Given the description of an element on the screen output the (x, y) to click on. 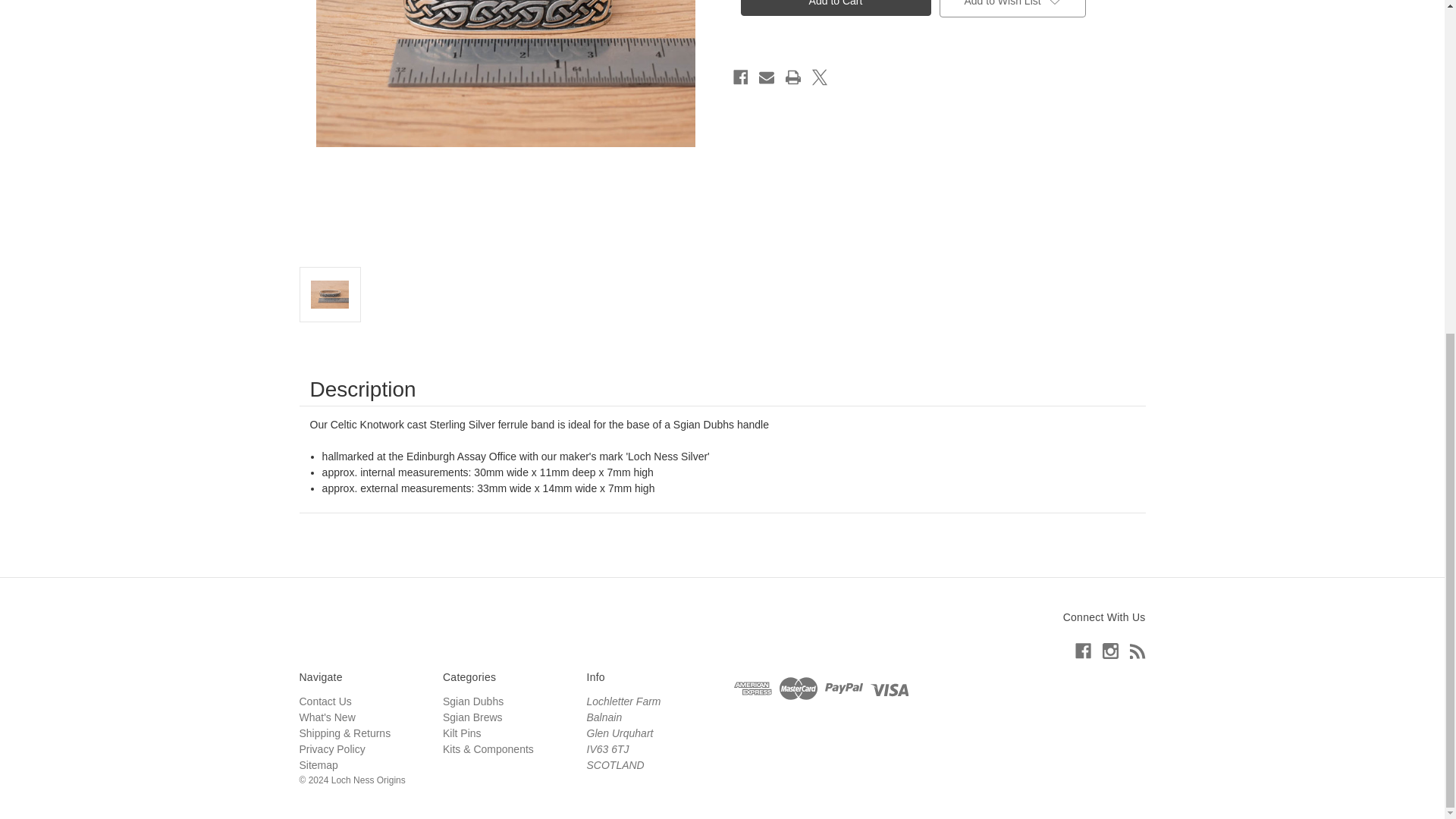
Add to Cart (834, 7)
Rss (1137, 650)
Visa (889, 688)
Instagram (1110, 650)
Mastercard (797, 688)
Facebook (1082, 650)
Add to Wish List (1011, 8)
PayPal (844, 688)
Add to Cart (834, 7)
American Express (752, 688)
